Given the description of an element on the screen output the (x, y) to click on. 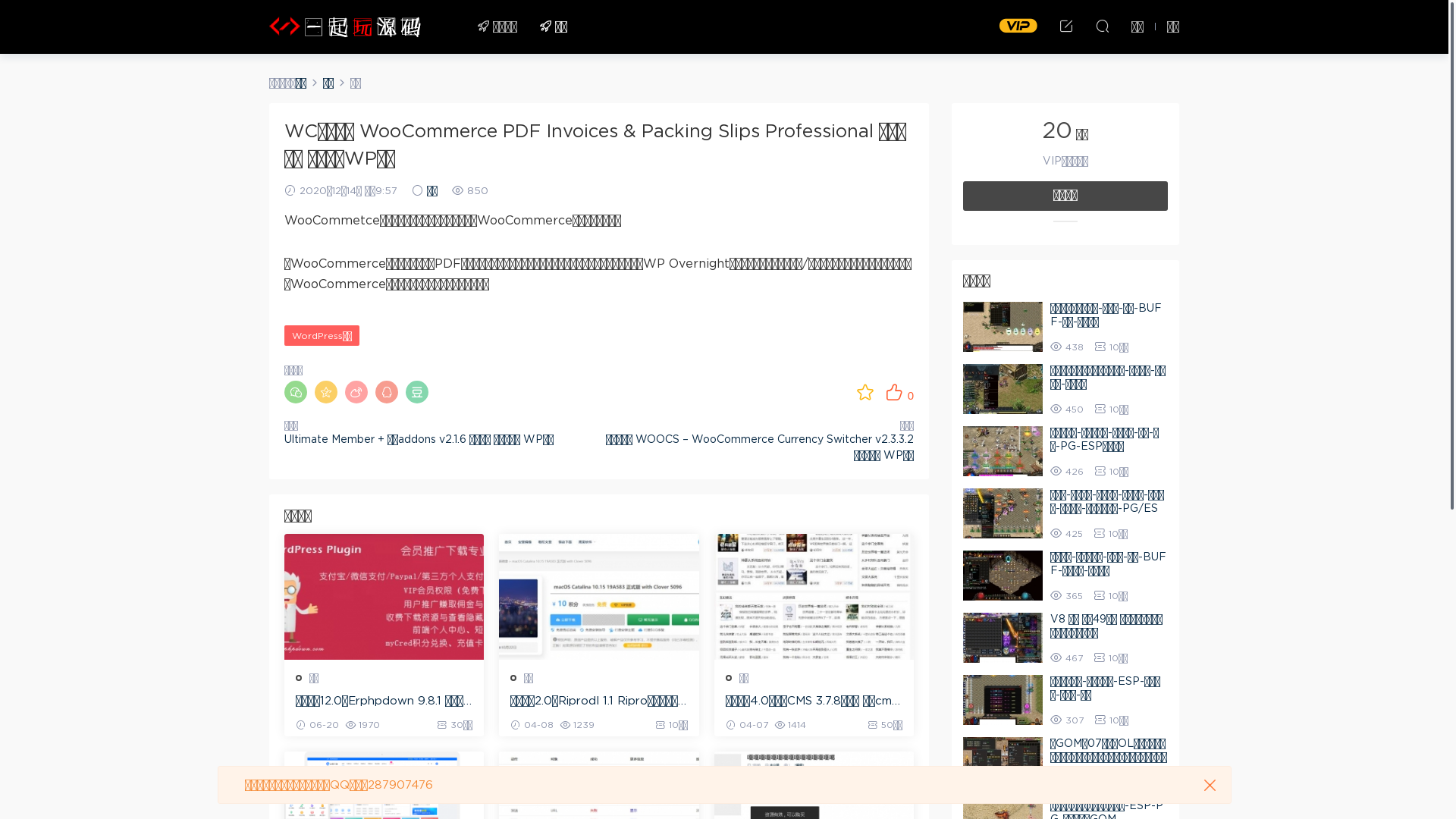
0 Element type: text (898, 391)
